Given the description of an element on the screen output the (x, y) to click on. 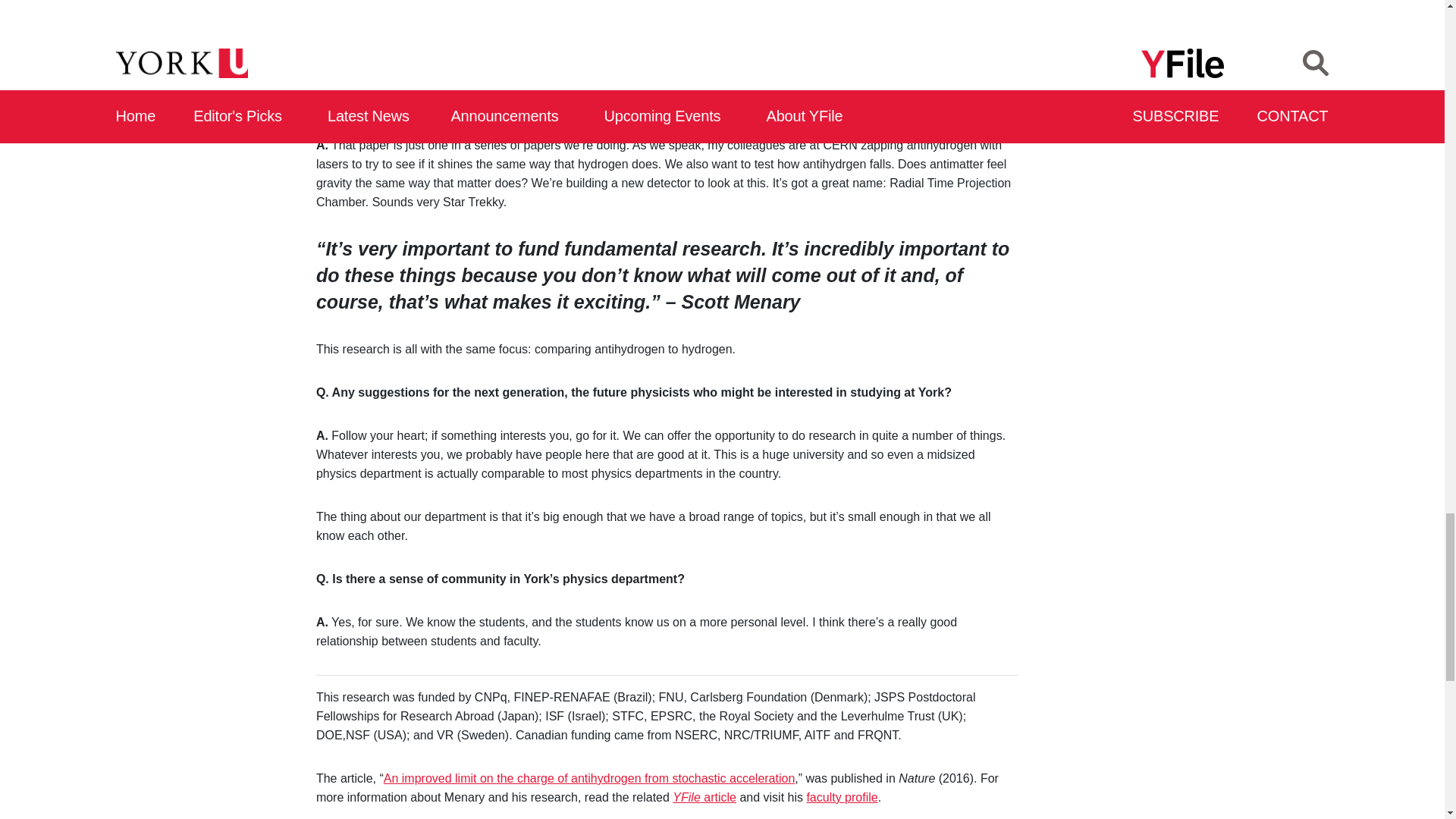
faculty profile (841, 797)
YFile article (704, 797)
